Given the description of an element on the screen output the (x, y) to click on. 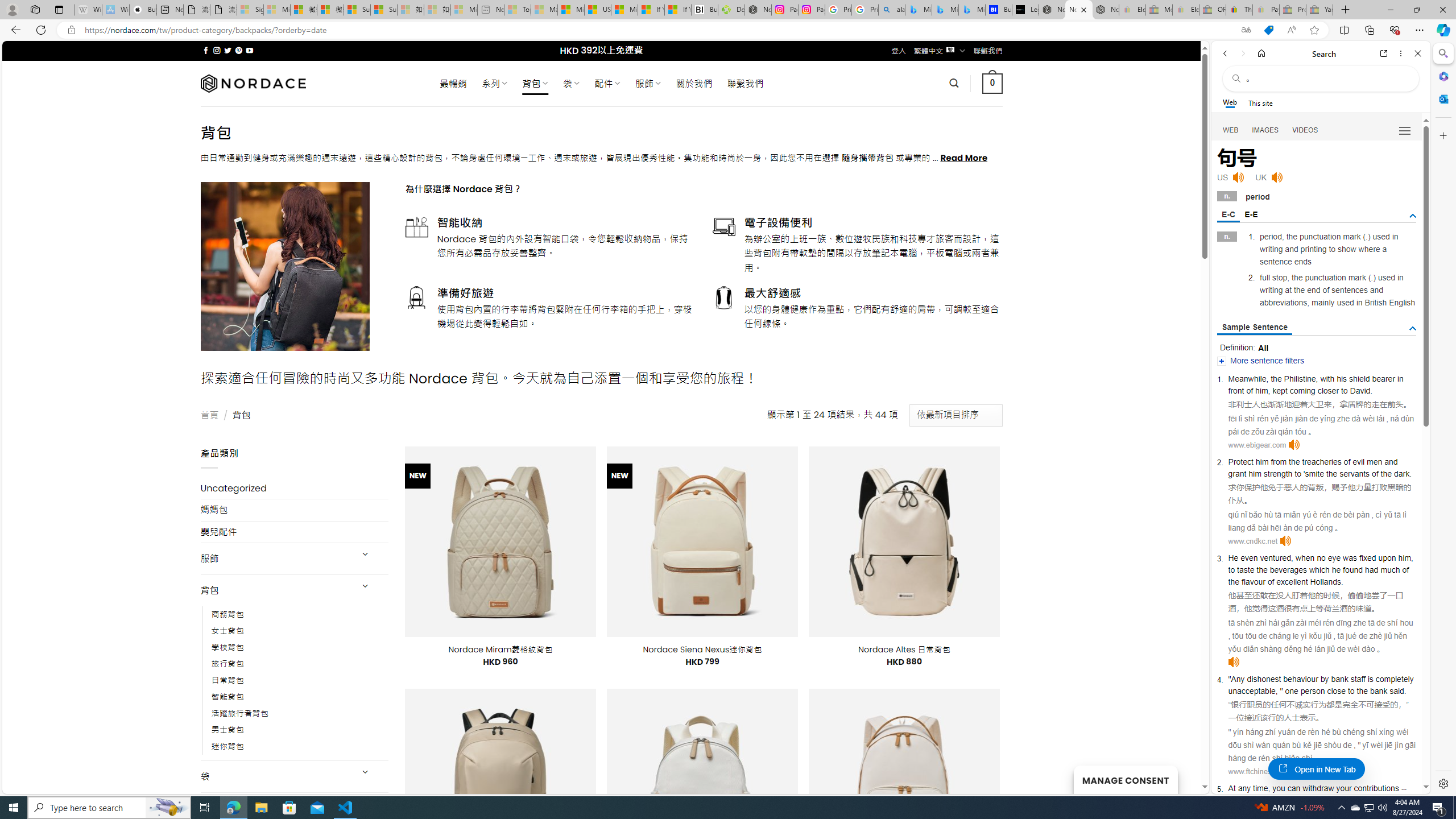
Marine life - MSN - Sleeping (543, 9)
ventured (1275, 557)
smite (1313, 473)
. (1404, 690)
of (1405, 569)
